Given the description of an element on the screen output the (x, y) to click on. 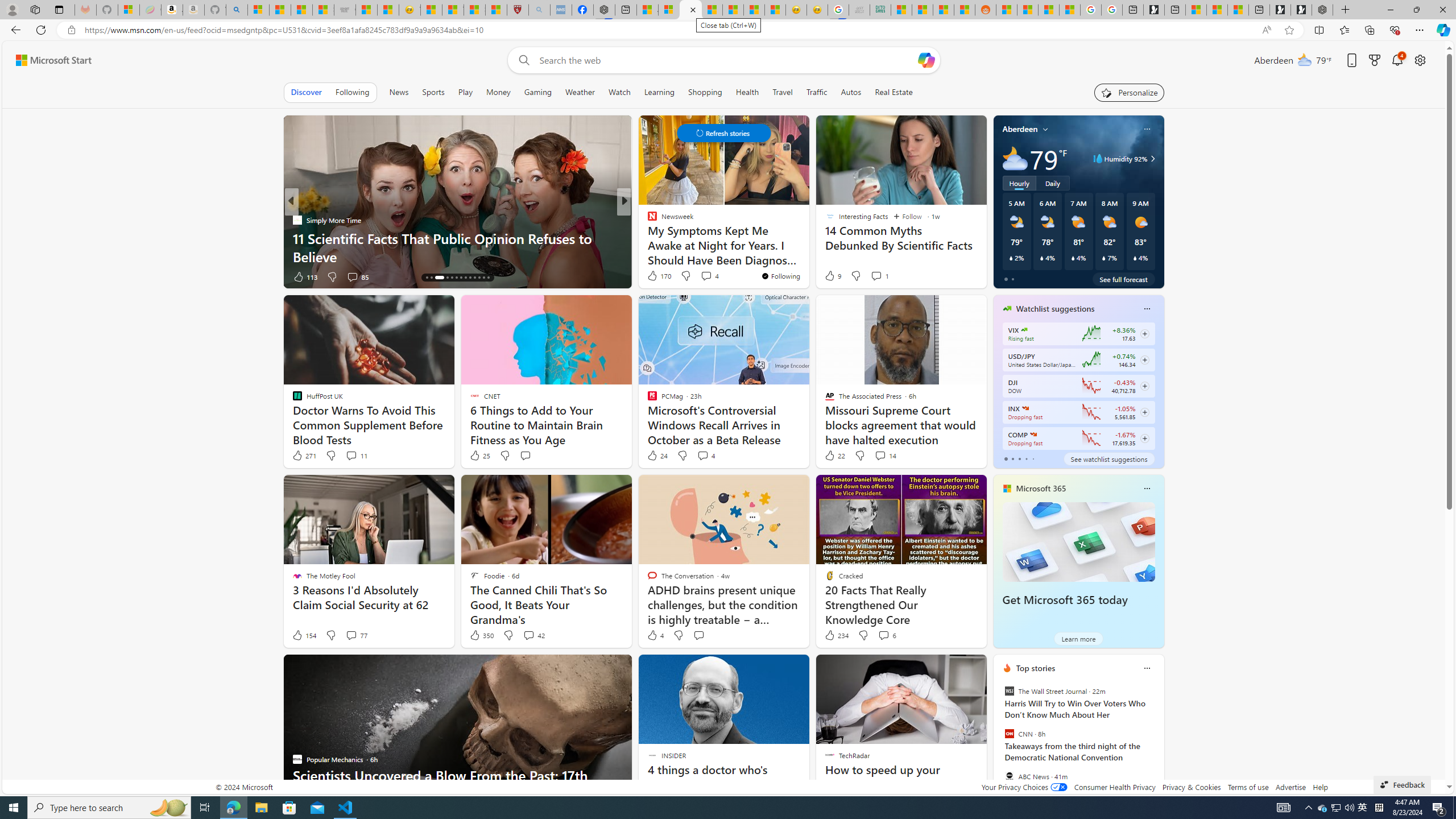
tab-2 (1019, 458)
Personalize your feed" (1129, 92)
AutomationID: tab-15 (431, 277)
Autos (850, 92)
TODAY (647, 219)
previous (998, 741)
4 Like (655, 634)
